Given the description of an element on the screen output the (x, y) to click on. 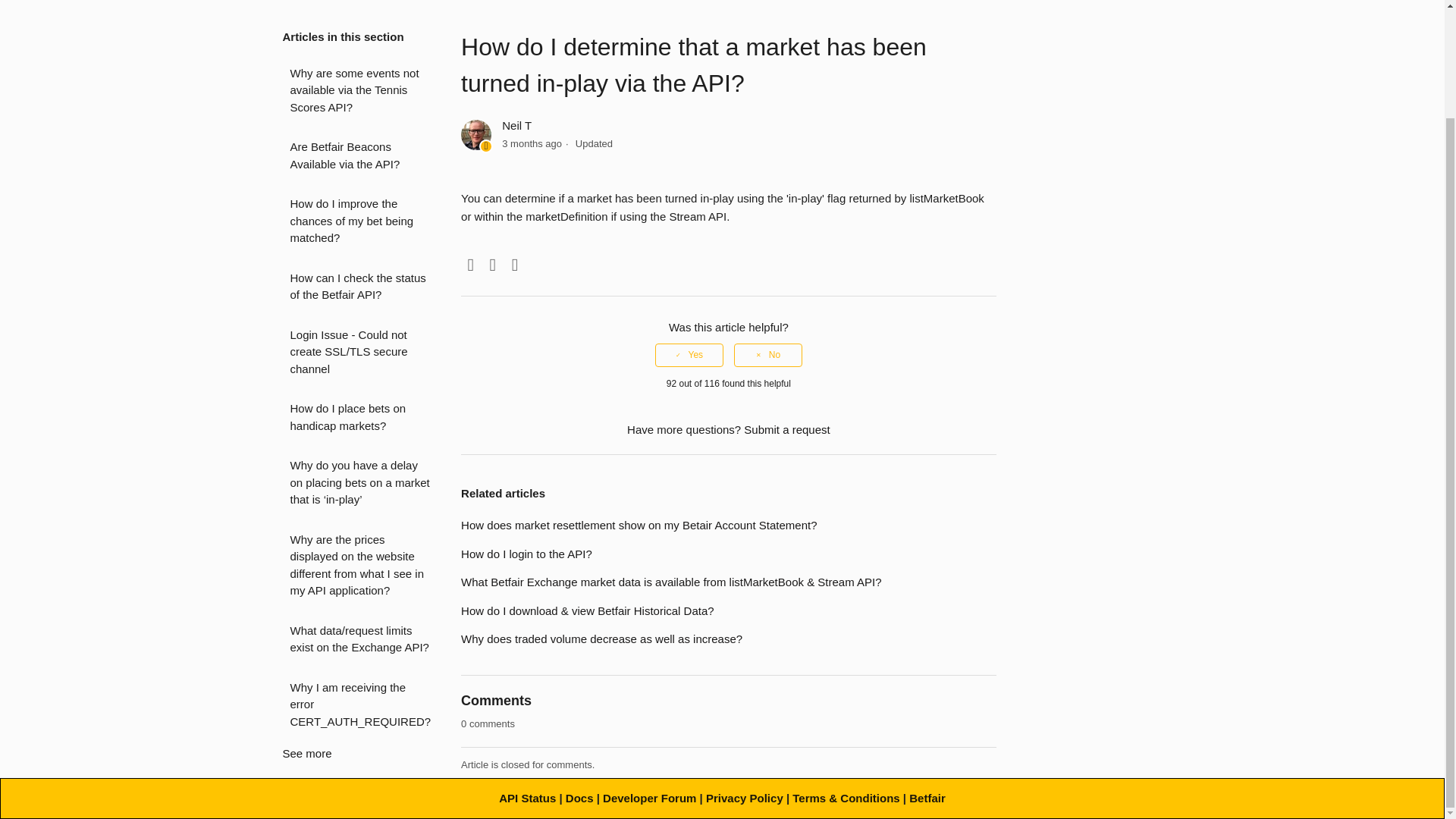
API Status (527, 797)
Are Betfair Beacons Available via the API? (360, 155)
2024-04-23 10:09 (532, 143)
Why are some events not available via the Tennis Scores API? (360, 90)
Docs (580, 797)
Why does traded volume decrease as well as increase? (601, 638)
No (767, 354)
How do I place bets on handicap markets? (360, 417)
How do I login to the API? (526, 553)
Facebook (470, 265)
How do I improve the chances of my bet being matched? (360, 221)
Twitter (492, 265)
How can I check the status of the Betfair API? (360, 287)
